Given the description of an element on the screen output the (x, y) to click on. 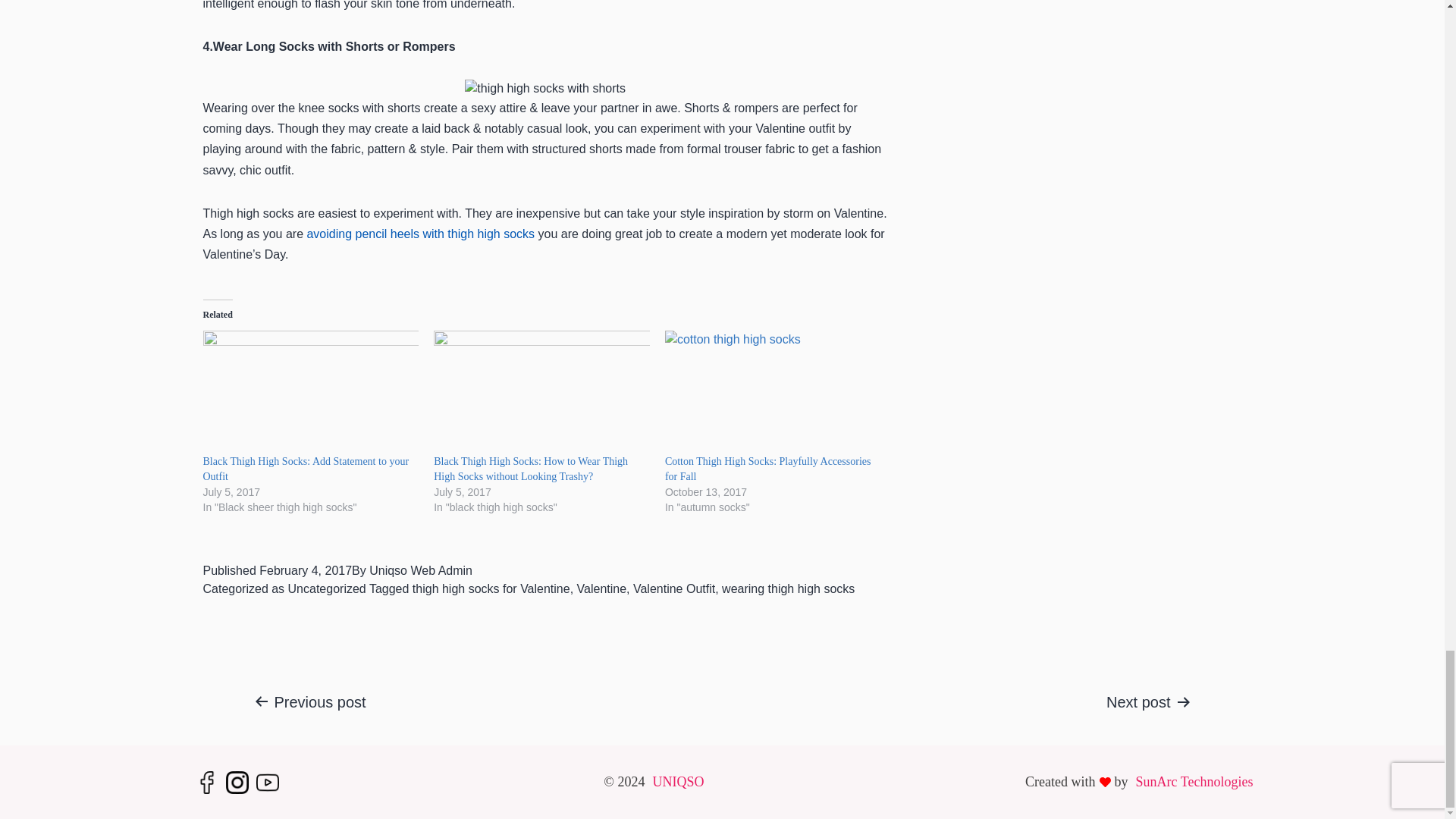
Uncategorized (327, 588)
Uniqso Web Admin (420, 570)
Cotton Thigh High Socks: Playfully Accessories for Fall (772, 392)
Cotton Thigh High Socks: Playfully Accessories for Fall (767, 468)
Cotton Thigh High Socks: Playfully Accessories for Fall (767, 468)
thigh high socks for Valentine (491, 588)
Black Thigh High Socks: Add Statement to your Outfit (311, 392)
